Given the description of an element on the screen output the (x, y) to click on. 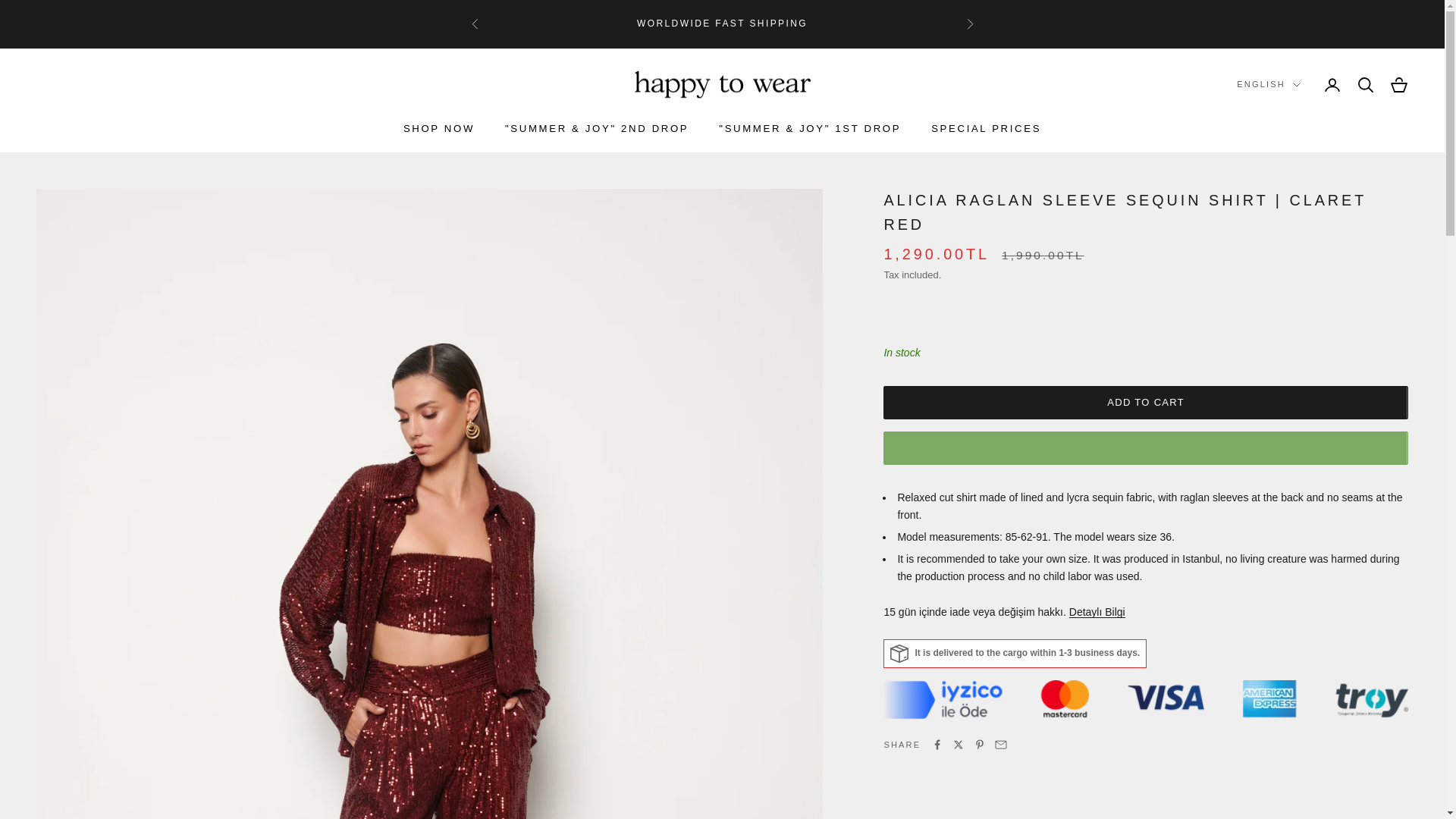
Open search (1365, 85)
SPECIAL PRICES (986, 128)
Open cart (1398, 85)
happy to wear (721, 85)
Open account page (1331, 85)
Refund Policy (1096, 612)
ENGLISH (1268, 83)
